Given the description of an element on the screen output the (x, y) to click on. 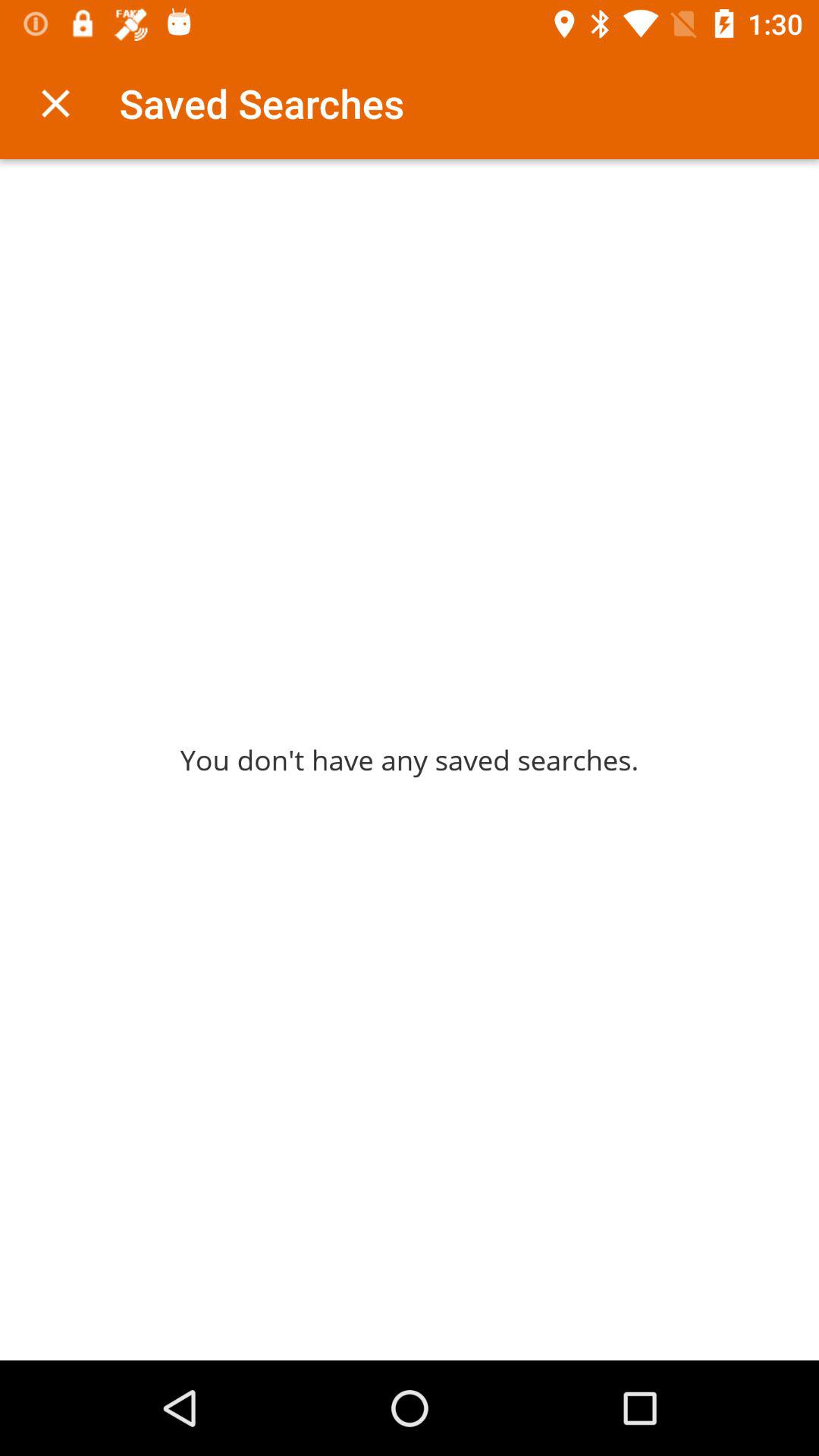
launch icon to the left of saved searches item (55, 103)
